Given the description of an element on the screen output the (x, y) to click on. 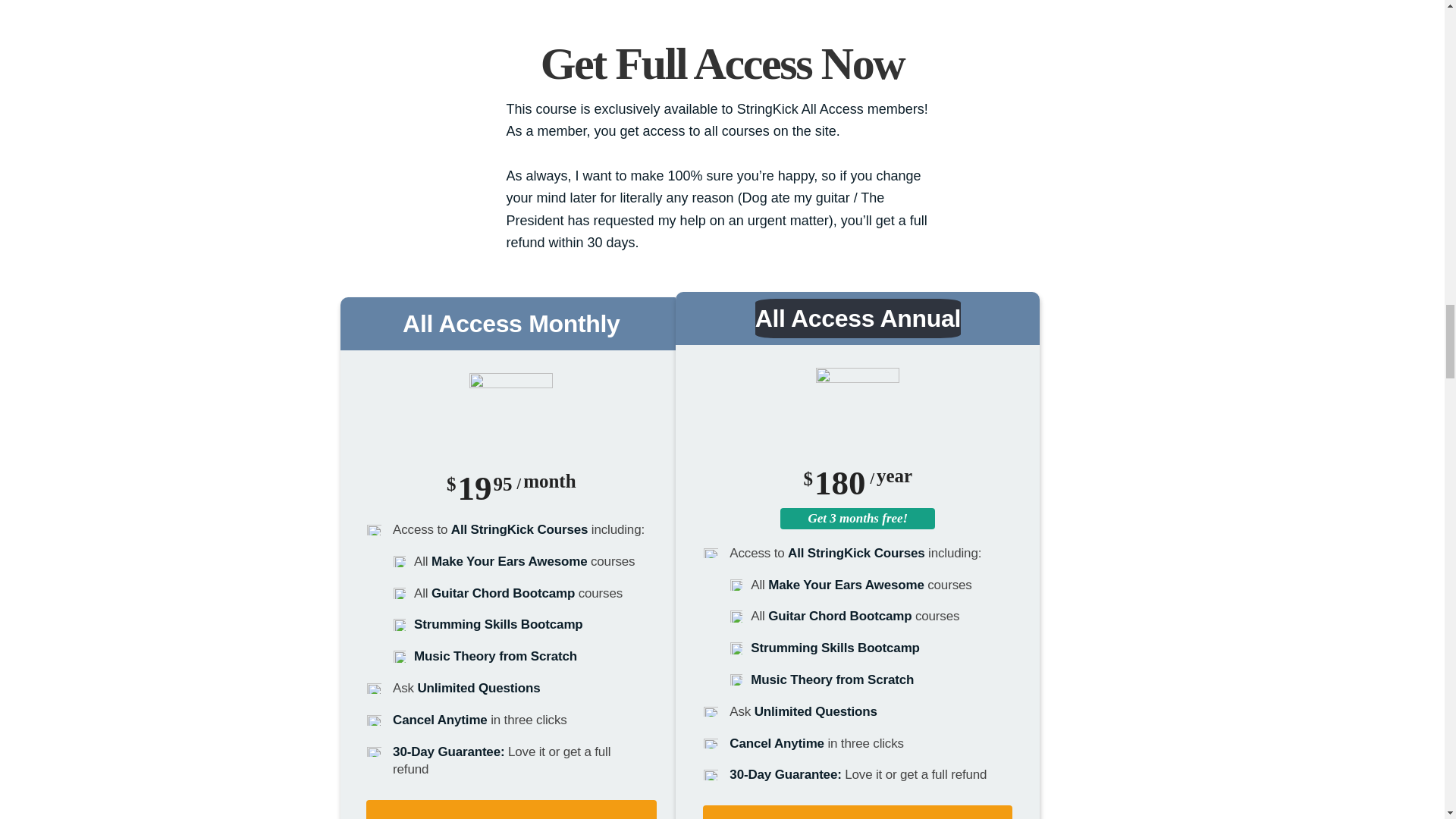
Get Access Now (857, 812)
Get Access Now (511, 809)
